Given the description of an element on the screen output the (x, y) to click on. 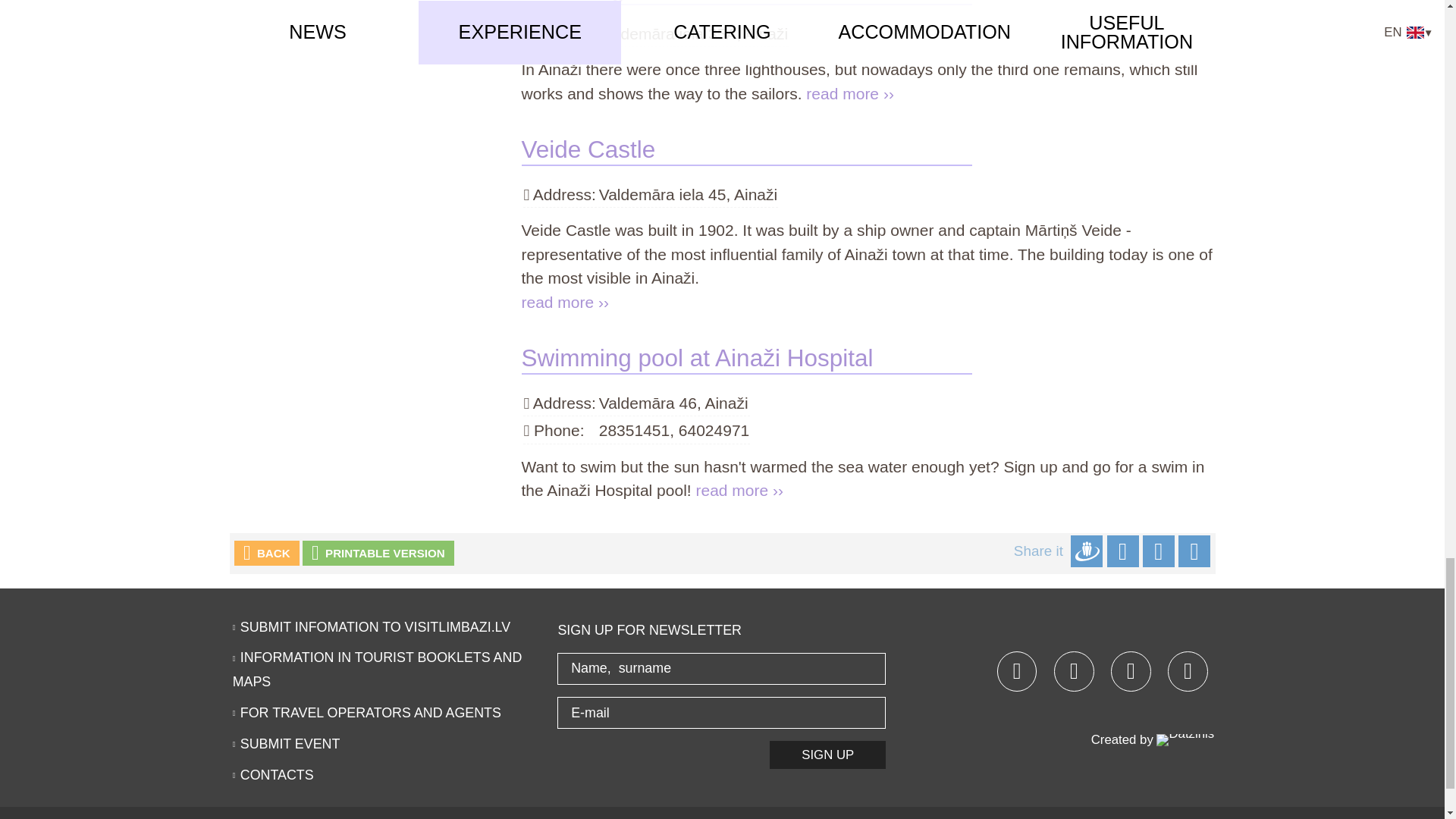
Last edited 15.08.2024 (615, 1)
Veide Castle (588, 148)
Last edited 25.05.2024 (697, 357)
  PRINTABLE VERSION (378, 552)
  BACK (266, 552)
Last edited 15.08.2024 (588, 148)
